Given the description of an element on the screen output the (x, y) to click on. 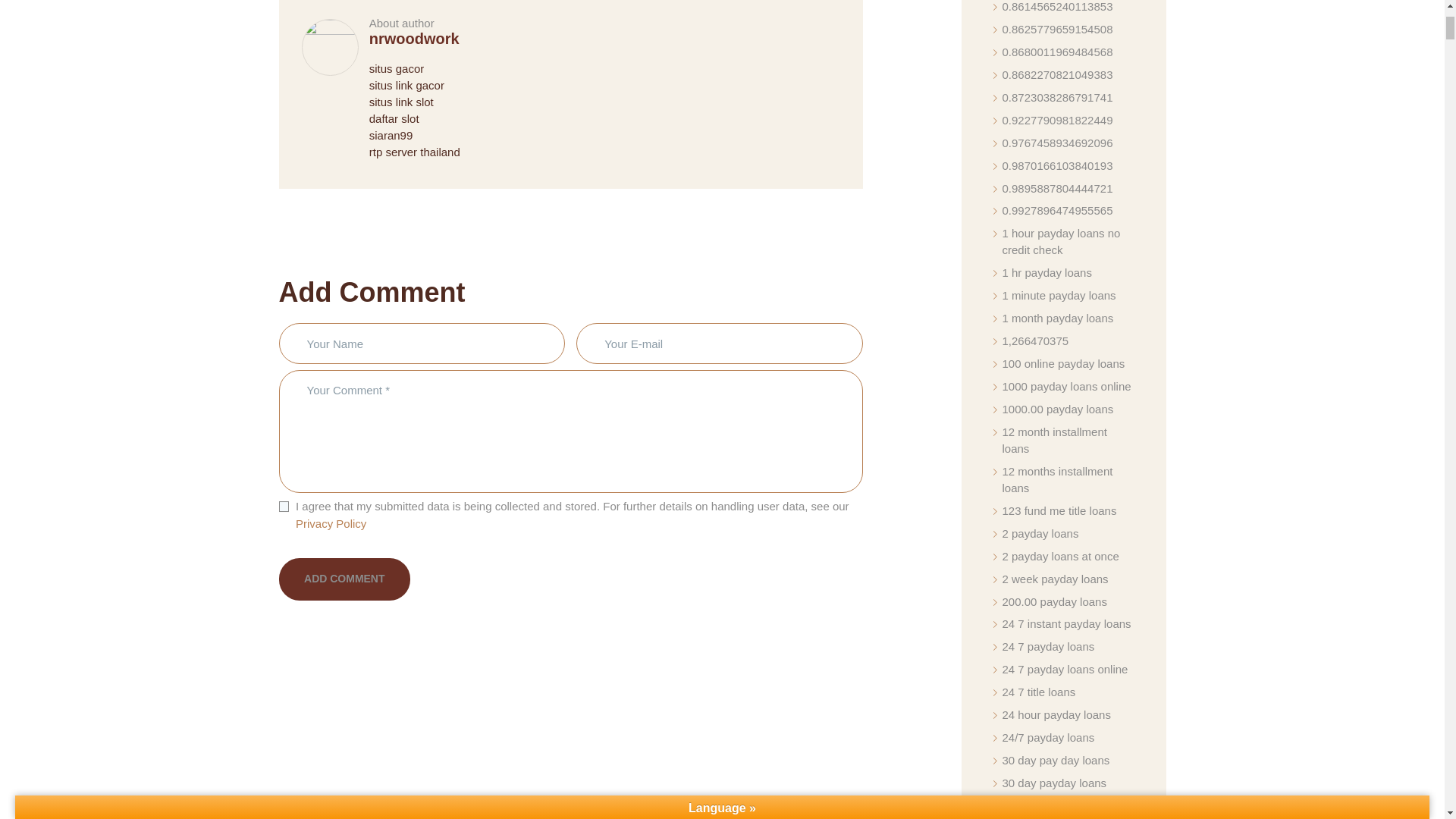
situs link gacor (406, 84)
daftar slot (394, 118)
add comment (344, 578)
situs gacor (397, 68)
situs link slot (401, 101)
rtp server thailand (414, 151)
siaran99 (391, 134)
Privacy Policy (330, 522)
add comment (344, 578)
